Given the description of an element on the screen output the (x, y) to click on. 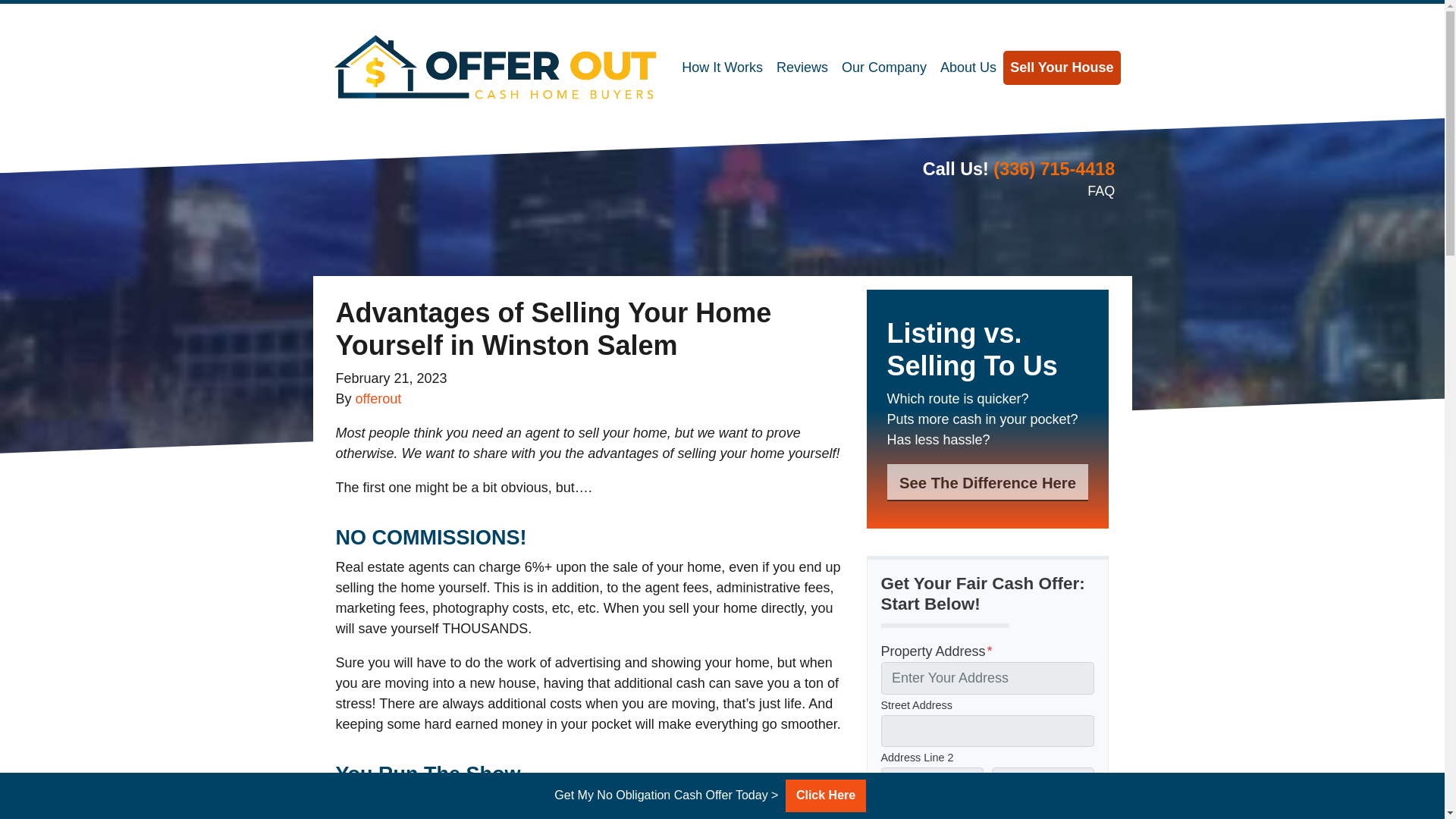
Sell Your House (1061, 67)
Reviews (802, 67)
FAQ (1101, 191)
How It Works (722, 67)
Our Company (883, 67)
offerout (378, 398)
Sell Your House (1061, 67)
Reviews (802, 67)
About Us (968, 67)
How It Works (722, 67)
See The Difference Here (987, 482)
Click Here (825, 796)
Our Company (883, 67)
About Us (968, 67)
